Given the description of an element on the screen output the (x, y) to click on. 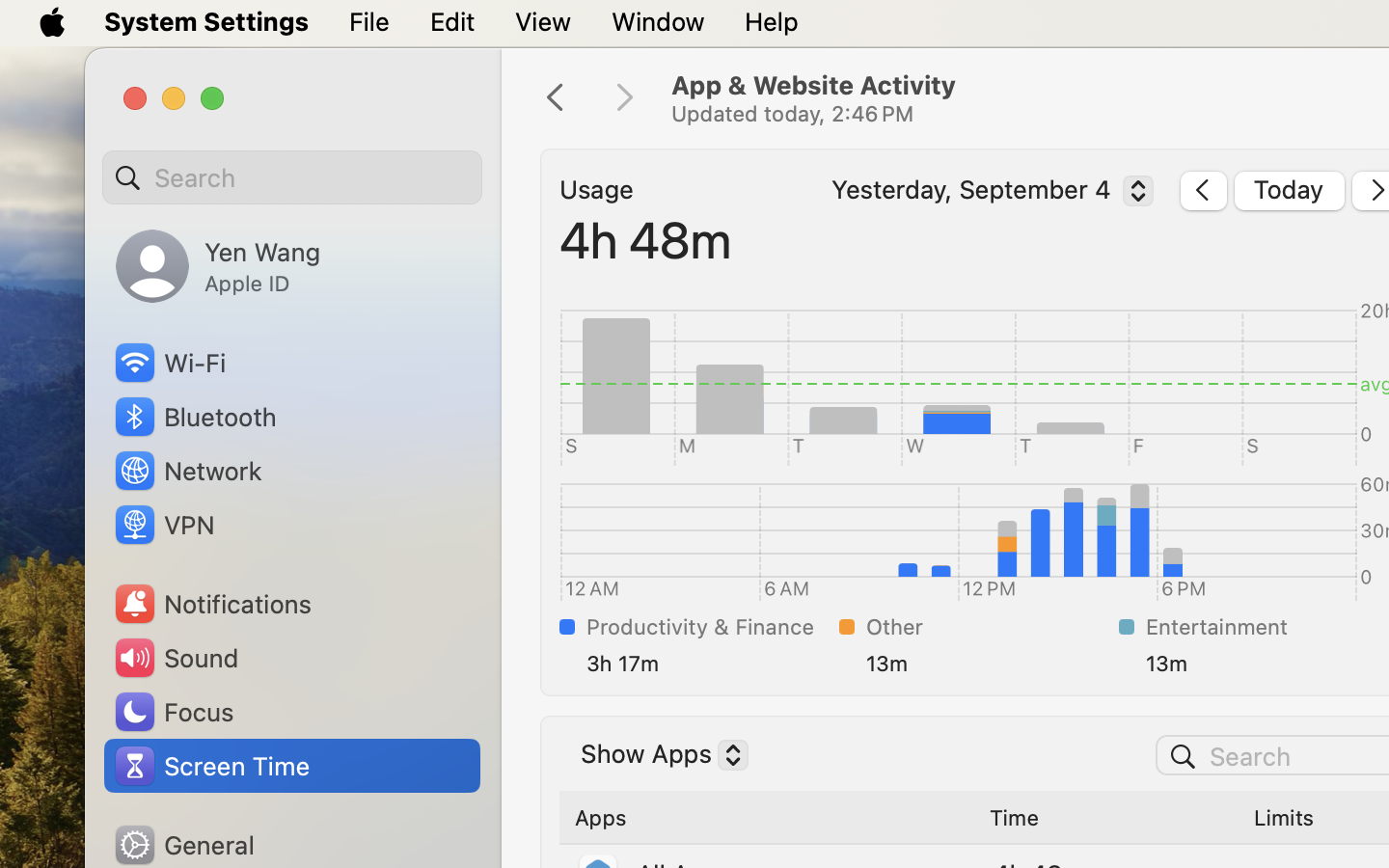
Focus Element type: AXStaticText (172, 711)
Yen Wang, Apple ID Element type: AXStaticText (217, 265)
Usage Element type: AXStaticText (596, 189)
Wi‑Fi Element type: AXStaticText (168, 362)
Yesterday, September 4 Element type: AXPopUpButton (987, 193)
